Given the description of an element on the screen output the (x, y) to click on. 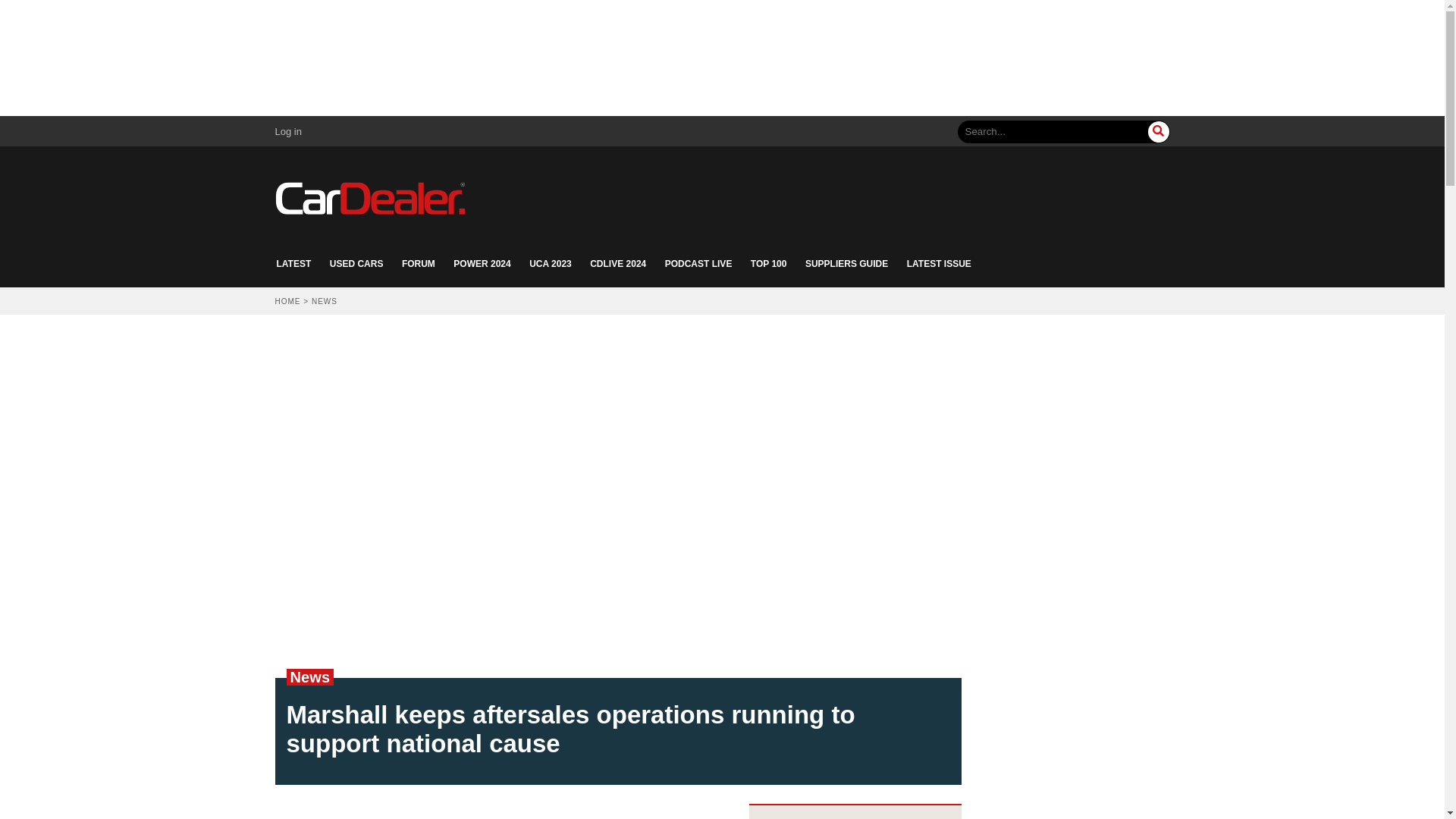
UCA 2023 (550, 263)
NEWS (324, 301)
TOP 100 (769, 263)
USED CARS (357, 263)
LATEST ISSUE (939, 263)
CDLIVE 2024 (617, 263)
HOME (287, 301)
PODCAST LIVE (698, 263)
LATEST (293, 263)
FORUM (418, 263)
News (309, 677)
POWER 2024 (481, 263)
Log in (288, 131)
SUPPLIERS GUIDE (846, 263)
